Given the description of an element on the screen output the (x, y) to click on. 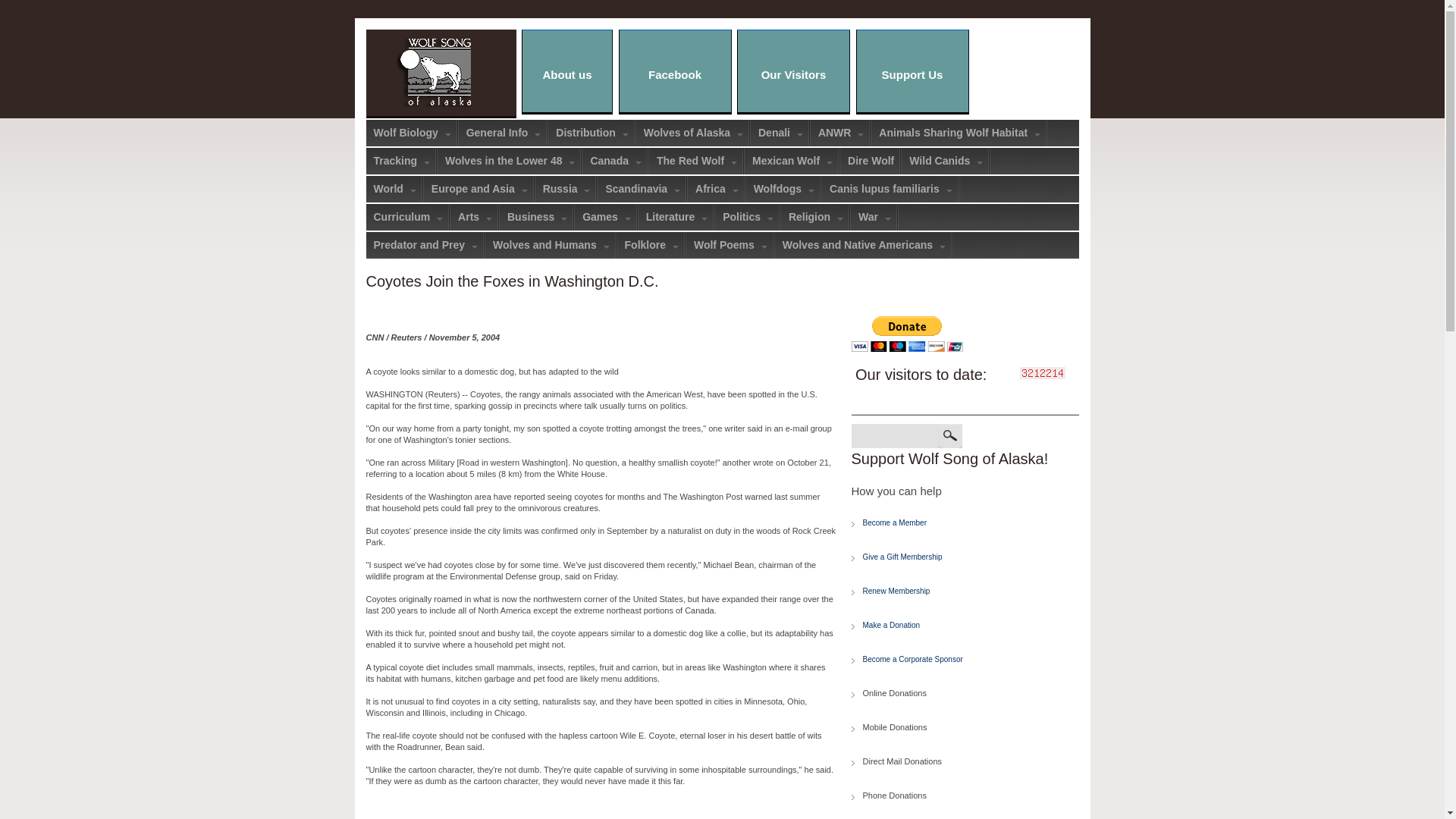
General Info (503, 132)
Search (950, 435)
Our Visitors (793, 71)
The latest updates about wolves around the globe (675, 71)
Distribution (591, 132)
Wolves of Alaska (693, 132)
Home (433, 43)
Support Us (912, 71)
Facebook (675, 71)
Our Visitors (793, 71)
Wolf Biology (411, 132)
About us (566, 71)
Enter the terms you wish to search for. (893, 434)
